Given the description of an element on the screen output the (x, y) to click on. 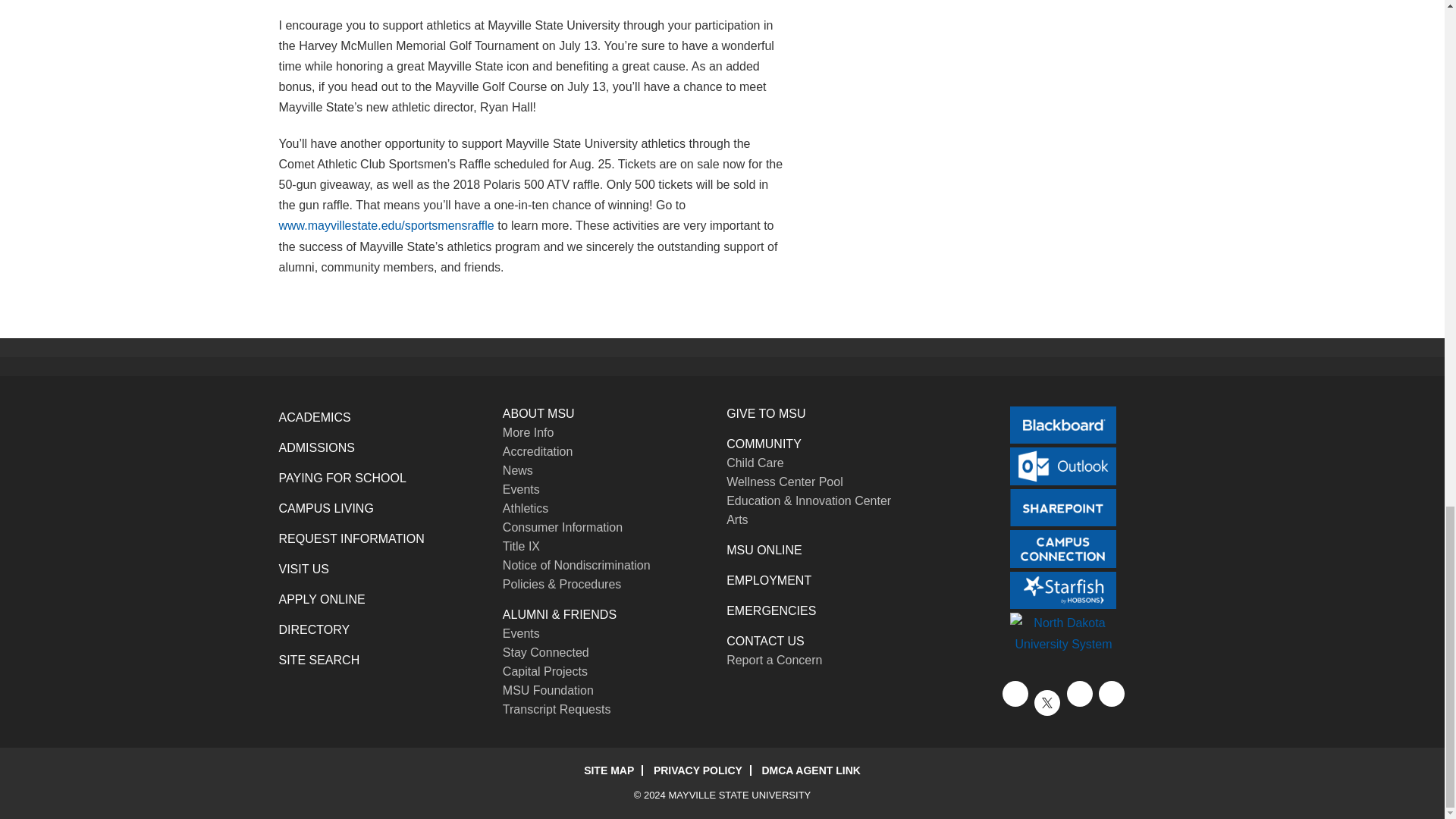
Request Information (352, 538)
Campus Living (326, 508)
About MSU (538, 413)
Paying for School (342, 477)
Site Search (319, 659)
Academics (314, 417)
Apply Now (322, 599)
Admissions (317, 447)
Visit Us (304, 568)
